Given the description of an element on the screen output the (x, y) to click on. 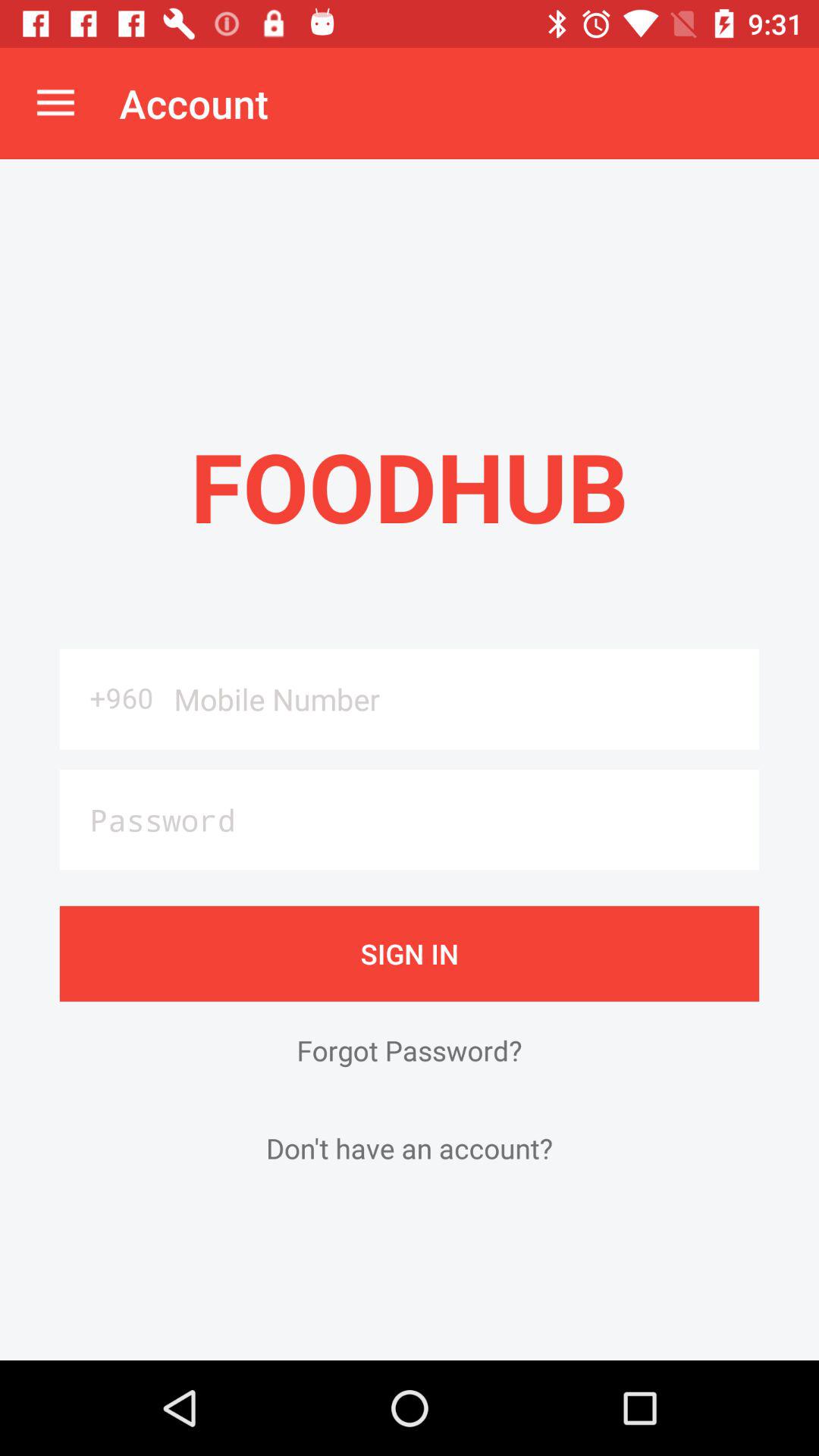
enter cell number (461, 698)
